Given the description of an element on the screen output the (x, y) to click on. 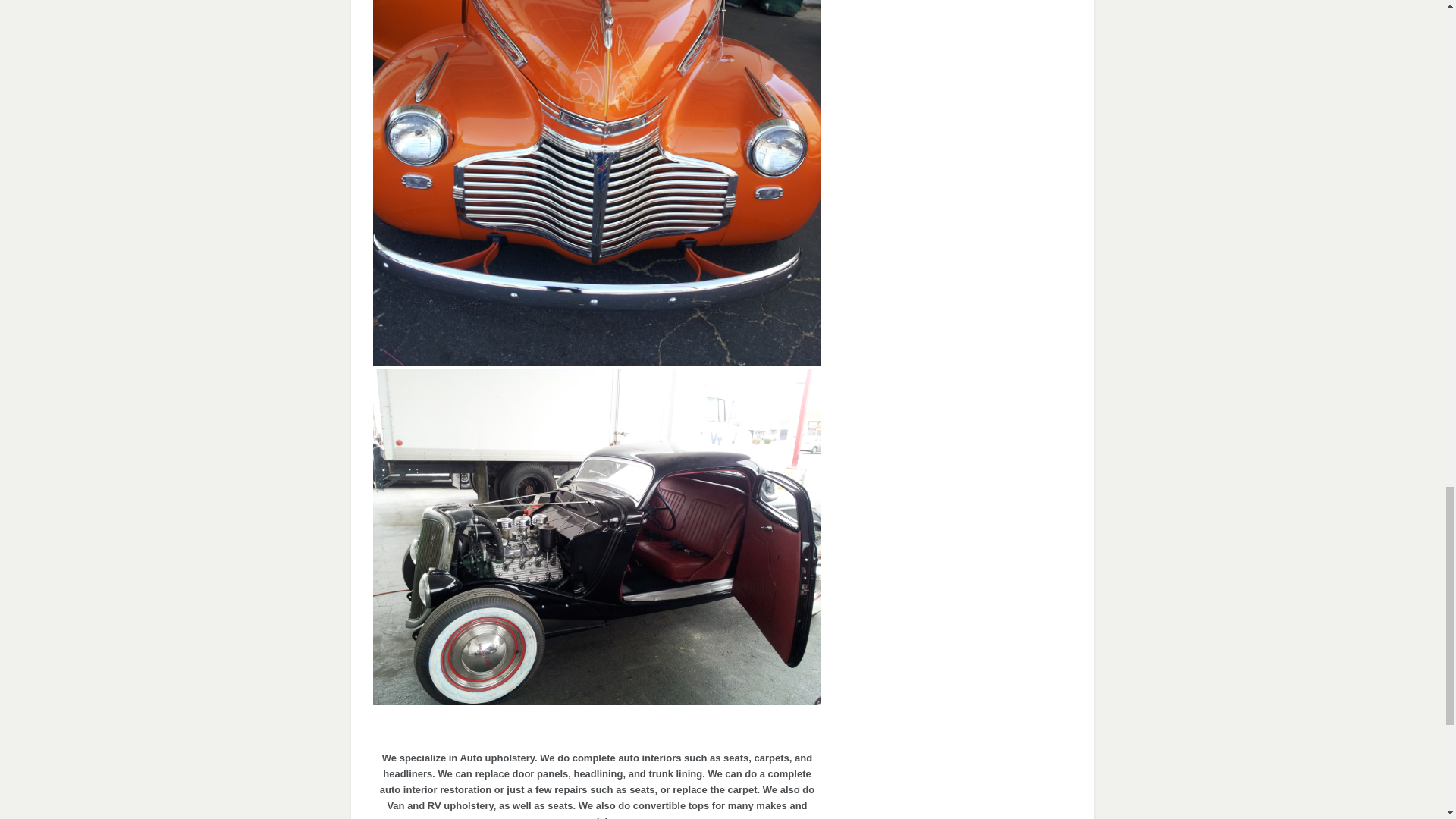
auto upholstery (596, 699)
auto upholstery (596, 359)
